Given the description of an element on the screen output the (x, y) to click on. 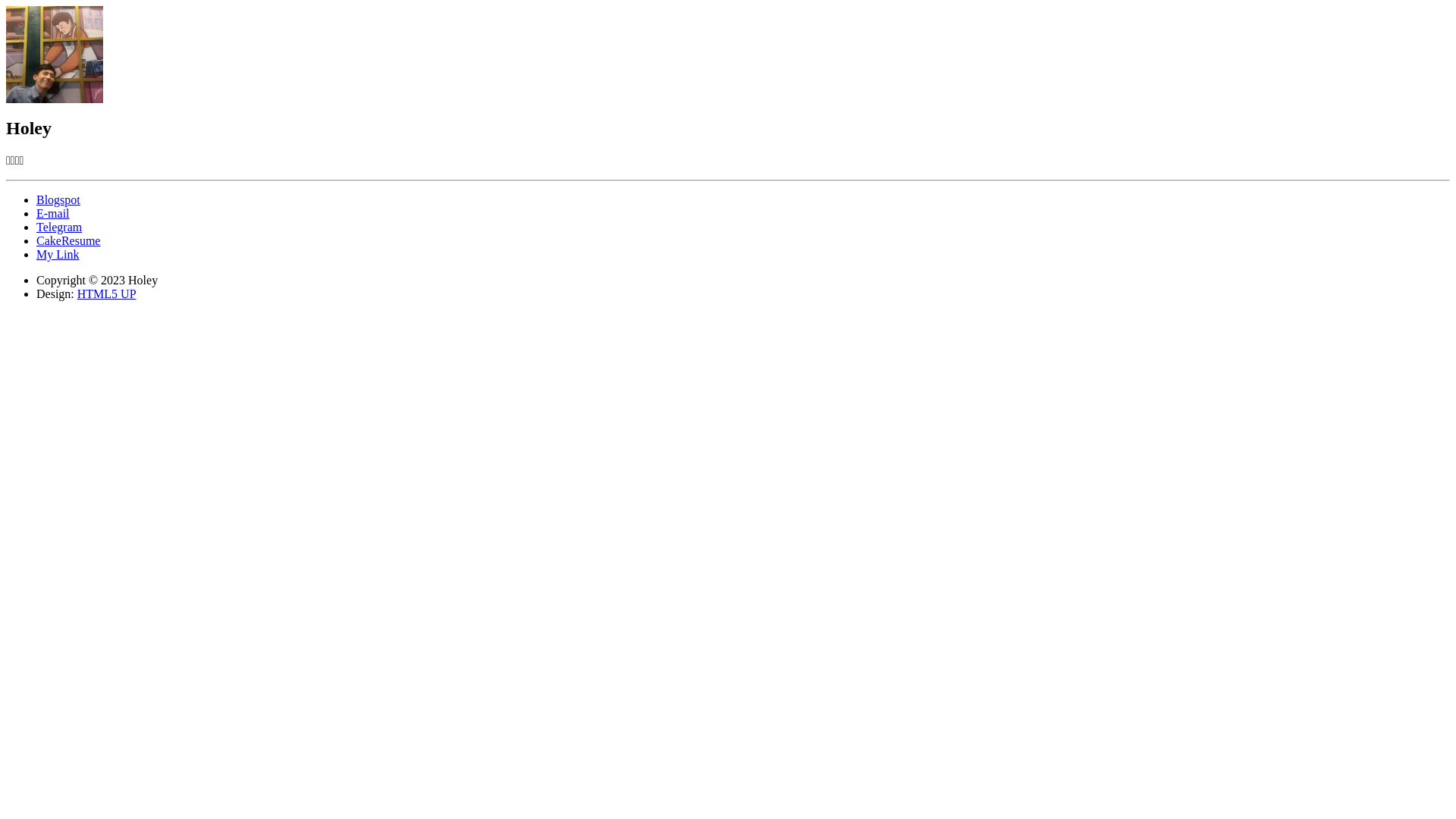
My Link Element type: text (57, 253)
CakeResume Element type: text (68, 240)
HTML5 UP Element type: text (106, 293)
Blogspot Element type: text (58, 199)
Telegram Element type: text (58, 226)
E-mail Element type: text (52, 213)
